Given the description of an element on the screen output the (x, y) to click on. 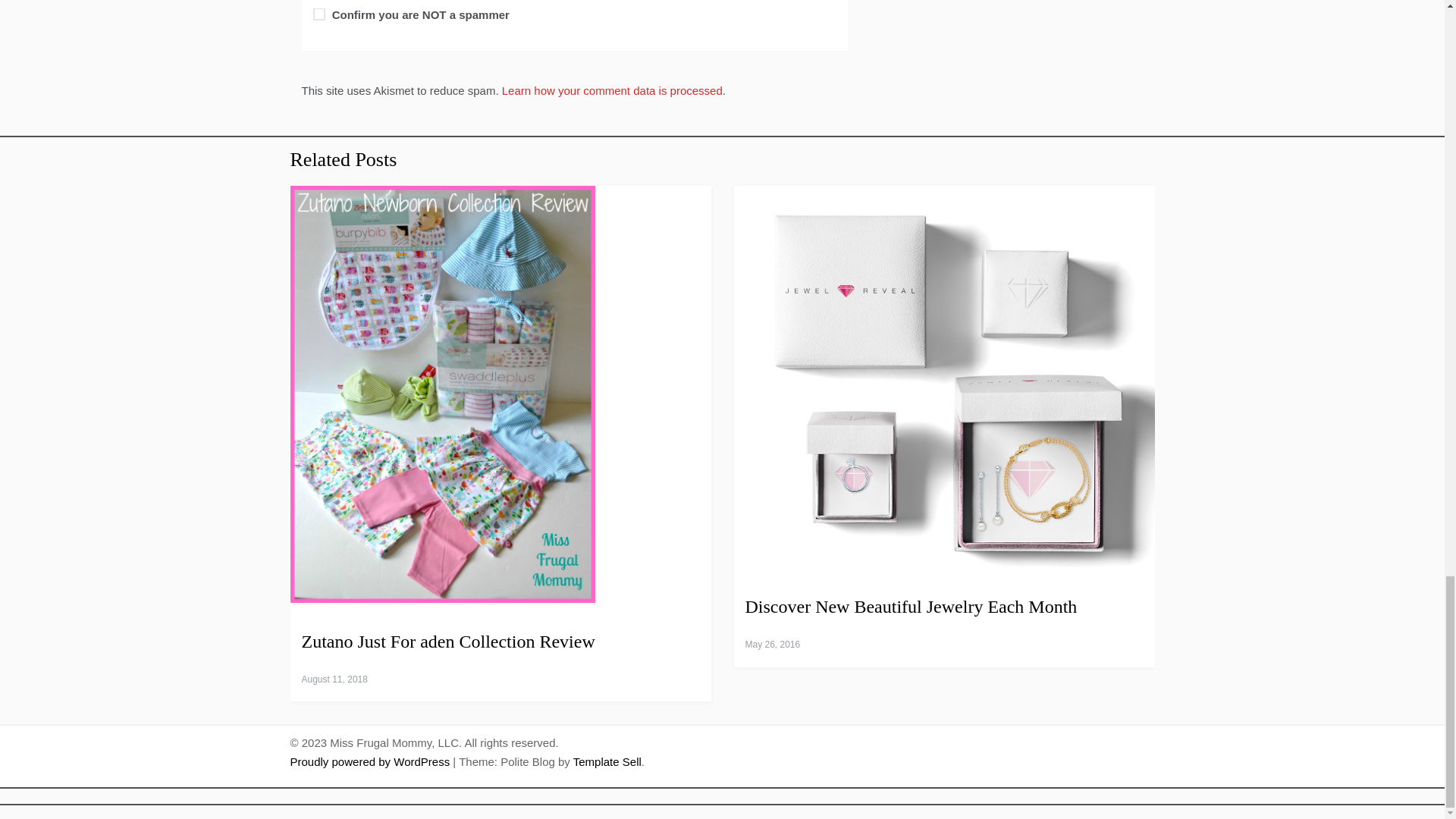
Learn how your comment data is processed (612, 90)
on (318, 14)
